Given the description of an element on the screen output the (x, y) to click on. 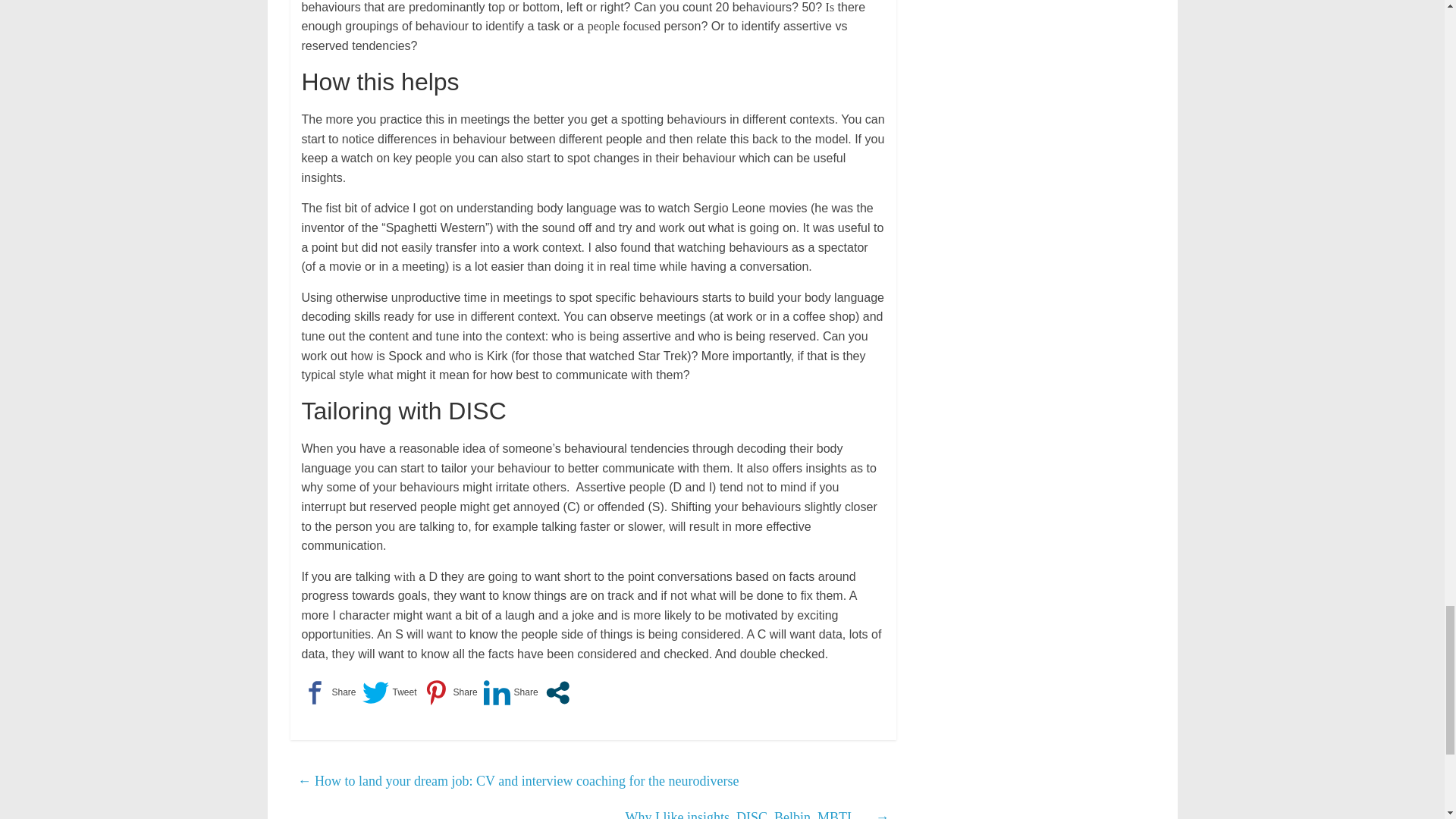
Share on Linkedin (510, 692)
Tweet (389, 692)
Open modal social networks (557, 692)
Share on Facebook (328, 692)
Share on Pinterest (450, 692)
